Given the description of an element on the screen output the (x, y) to click on. 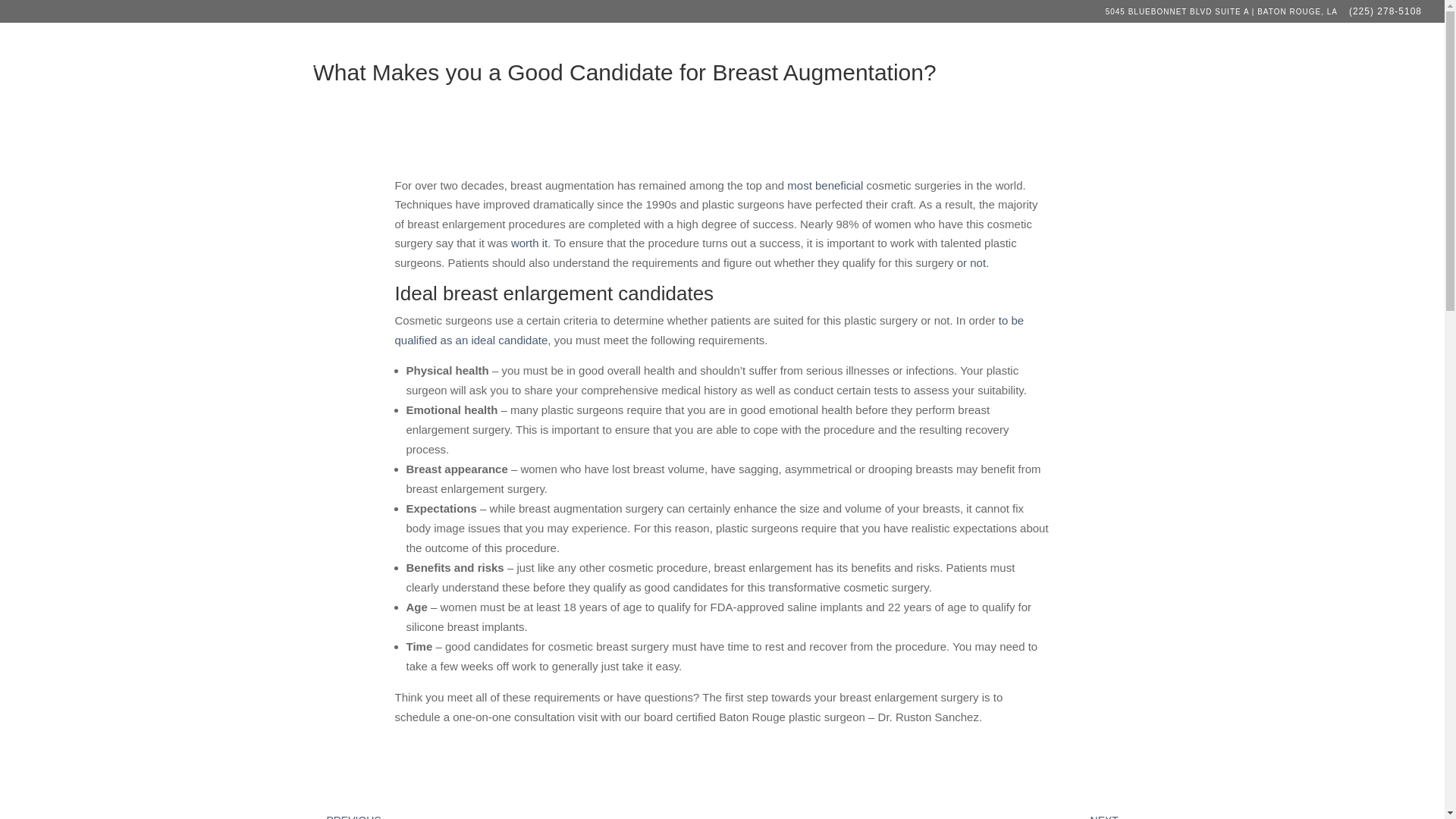
BODY (1109, 65)
BREAST (1035, 65)
ABOUT (957, 65)
FACE (1175, 65)
